Given the description of an element on the screen output the (x, y) to click on. 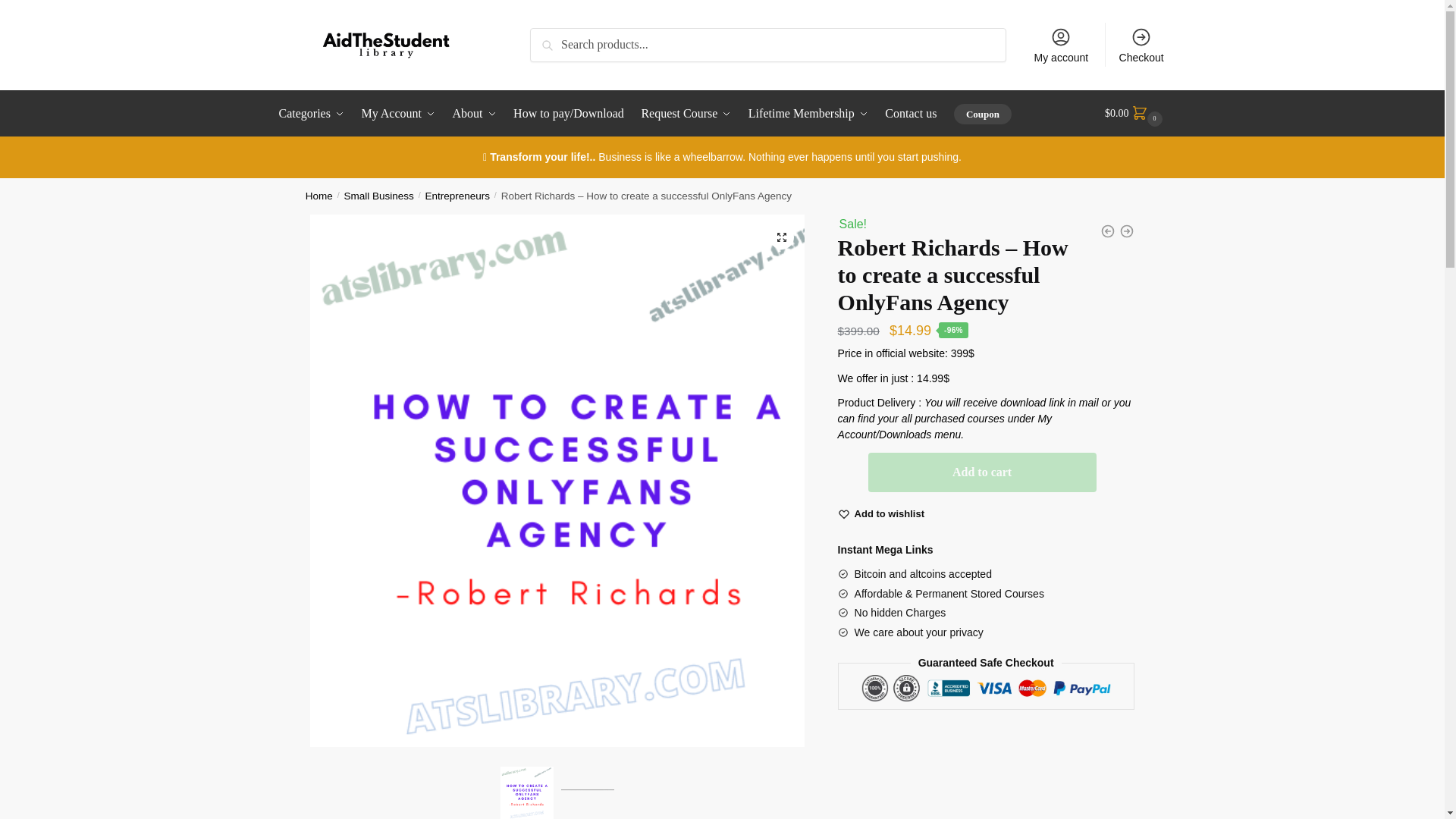
Categories (314, 113)
Search (550, 38)
My Account (398, 113)
Wishlist (889, 513)
View your shopping cart (1135, 113)
About (474, 113)
My account (1061, 44)
Checkout (1141, 44)
